Given the description of an element on the screen output the (x, y) to click on. 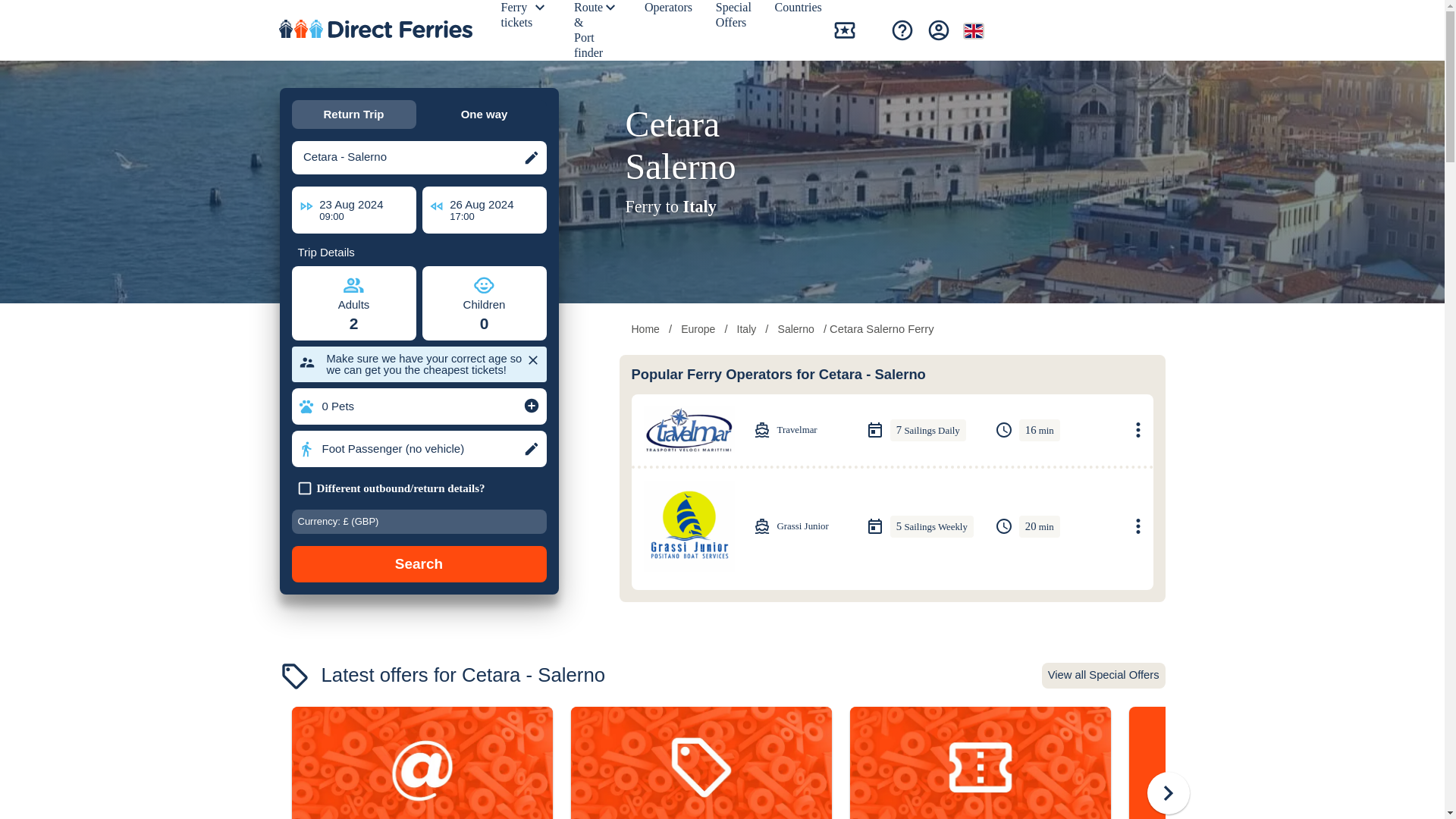
Operators (671, 10)
Ferry tickets (519, 18)
Countries (800, 10)
Special Offers (736, 18)
